Given the description of an element on the screen output the (x, y) to click on. 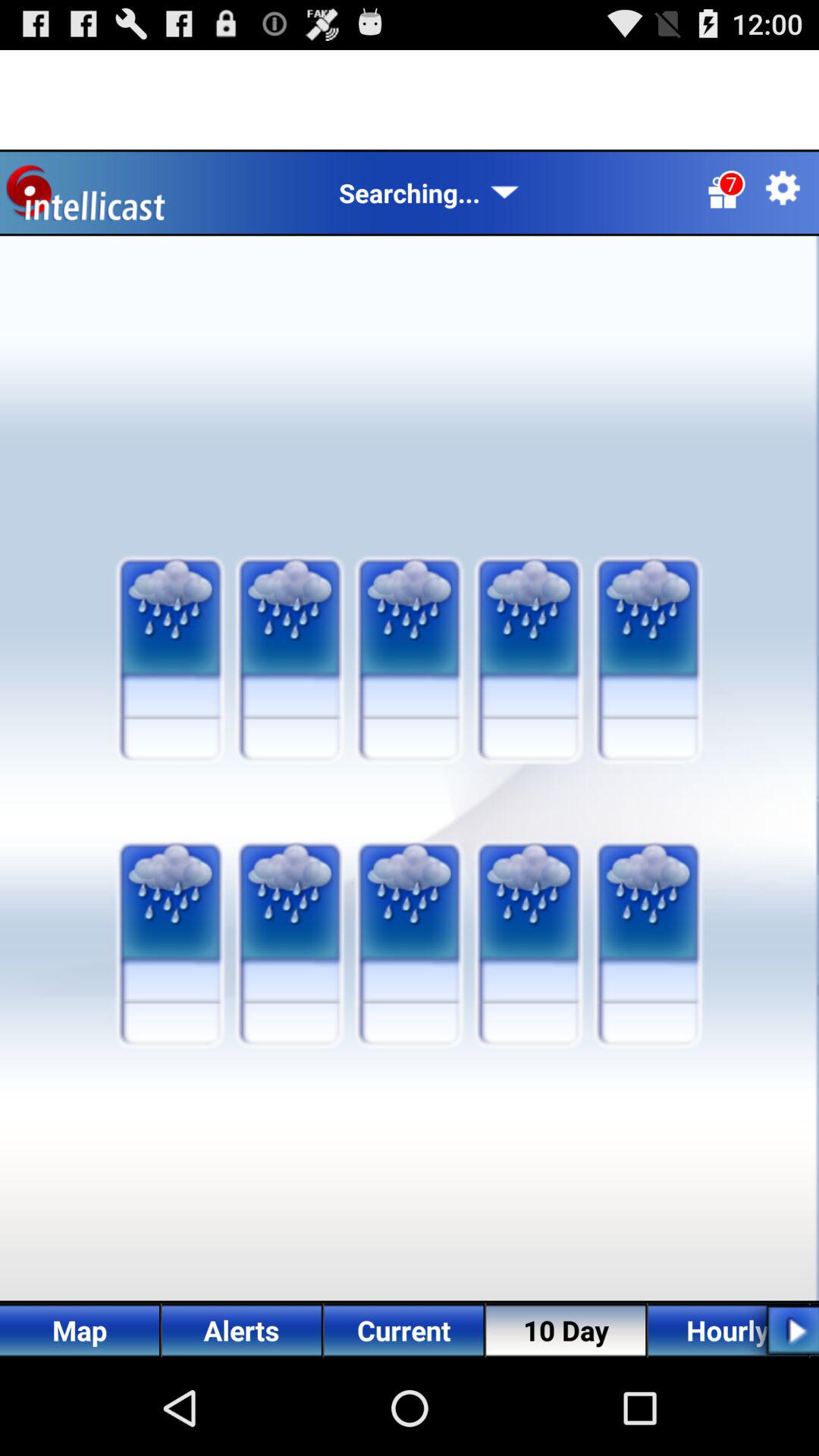
select the text 10 day at bottom of the page (565, 1329)
select the third image in the second row (409, 882)
click on the text searching along with the drop down button (429, 192)
